Given the description of an element on the screen output the (x, y) to click on. 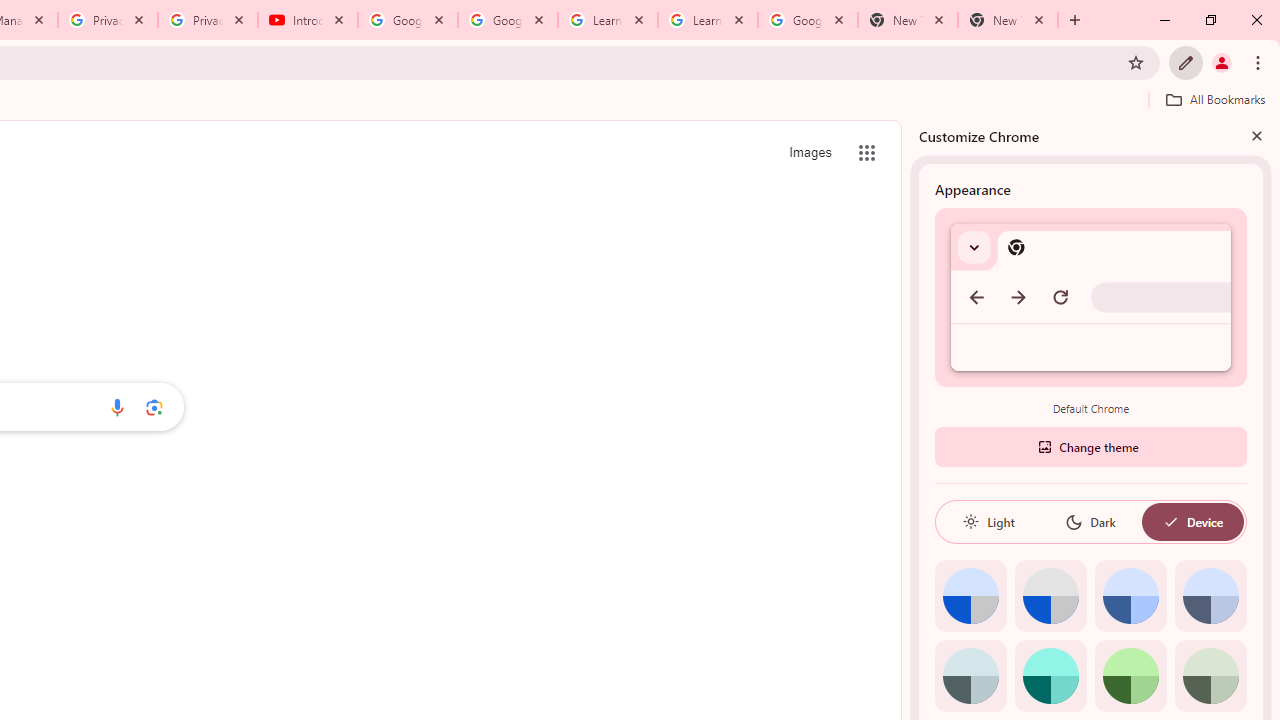
Light (988, 521)
Customize Chrome (1185, 62)
Default color (970, 596)
